Given the description of an element on the screen output the (x, y) to click on. 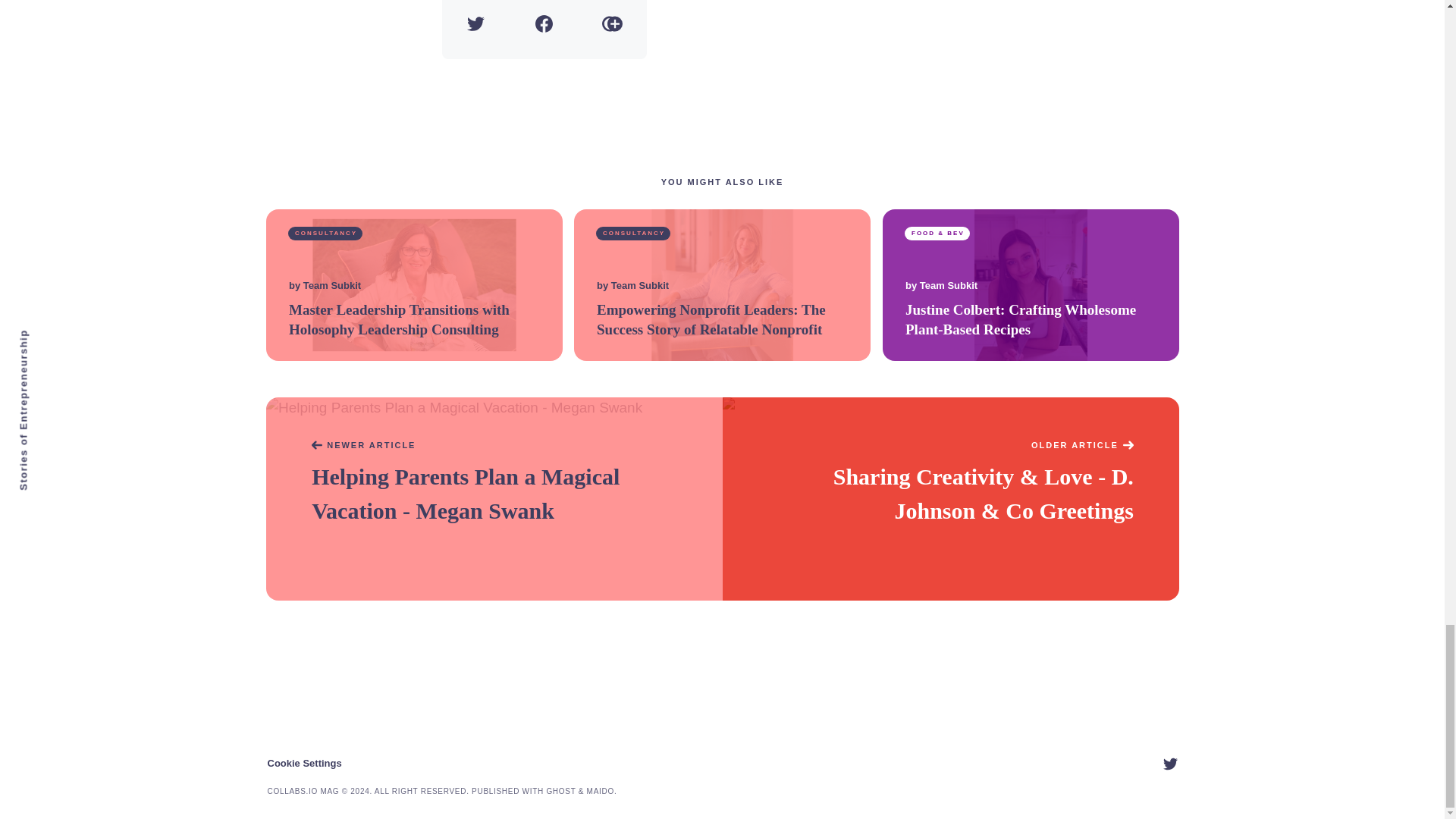
Cookie Settings (303, 763)
Team Subkit (330, 286)
Team Subkit (948, 286)
MAIDO (600, 791)
Team Subkit (639, 286)
COLLABS.IO MAG (302, 791)
GHOST (560, 791)
